Given the description of an element on the screen output the (x, y) to click on. 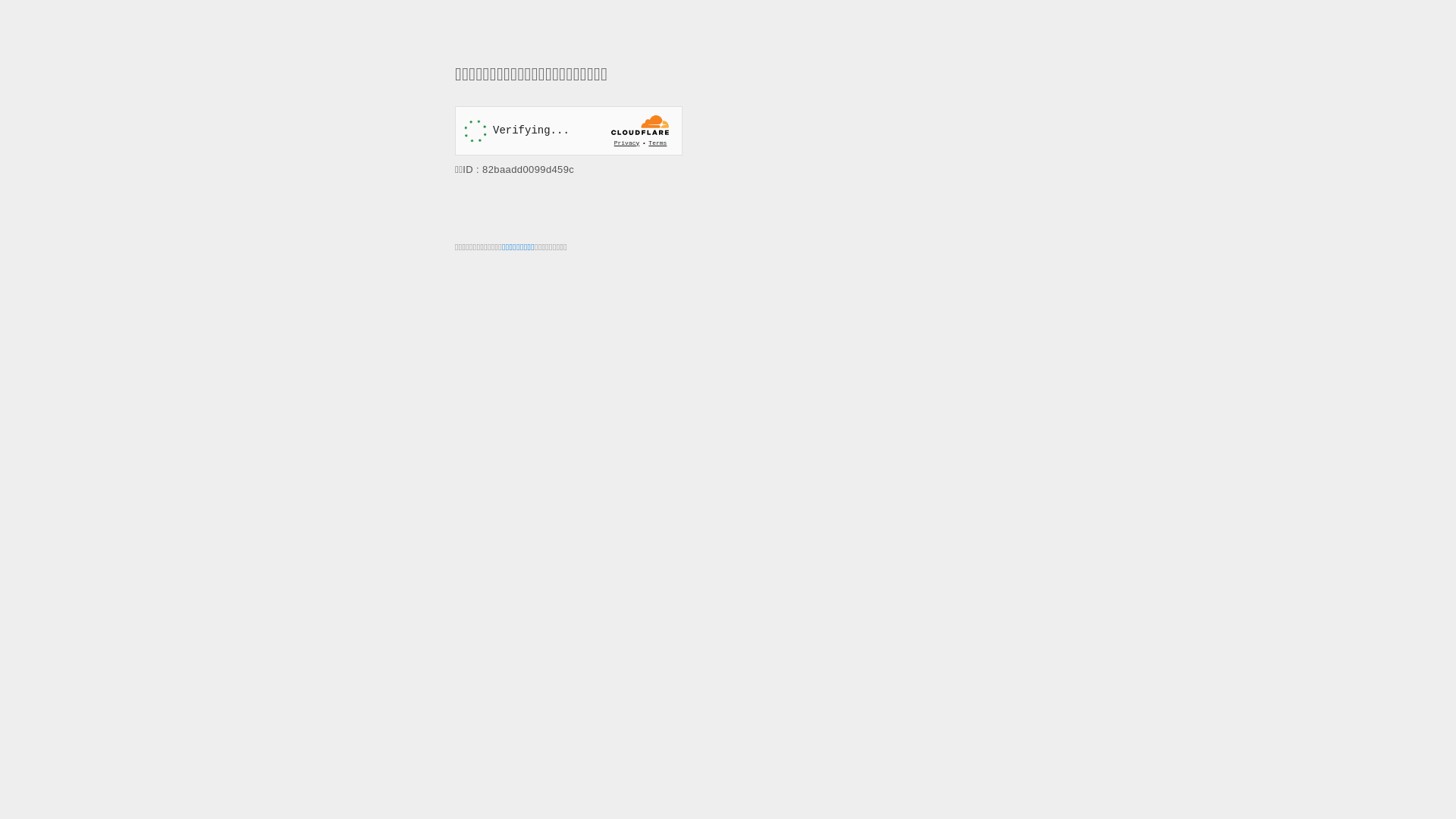
Widget containing a Cloudflare security challenge Element type: hover (568, 130)
